Given the description of an element on the screen output the (x, y) to click on. 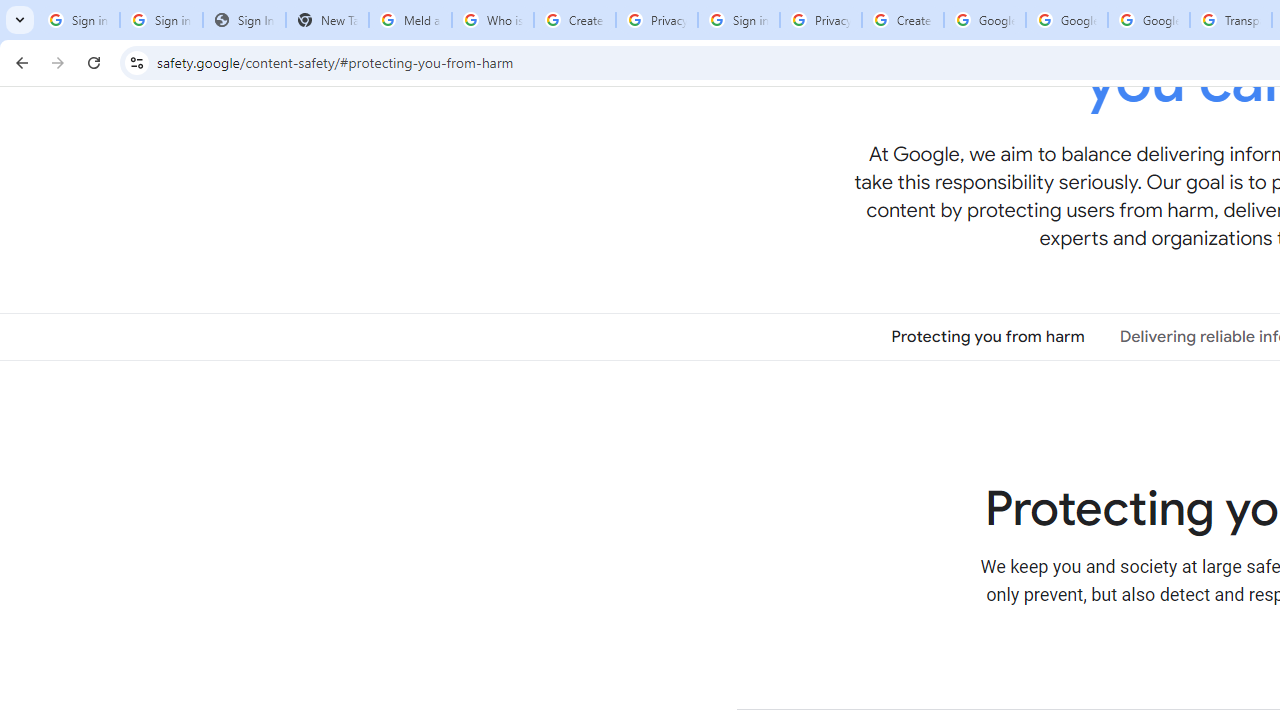
New Tab (326, 20)
Google Account (1149, 20)
Sign In - USA TODAY (244, 20)
Protecting you from harm (987, 336)
Create your Google Account (574, 20)
Who is my administrator? - Google Account Help (492, 20)
Sign in - Google Accounts (78, 20)
Sign in - Google Accounts (738, 20)
Create your Google Account (902, 20)
